Given the description of an element on the screen output the (x, y) to click on. 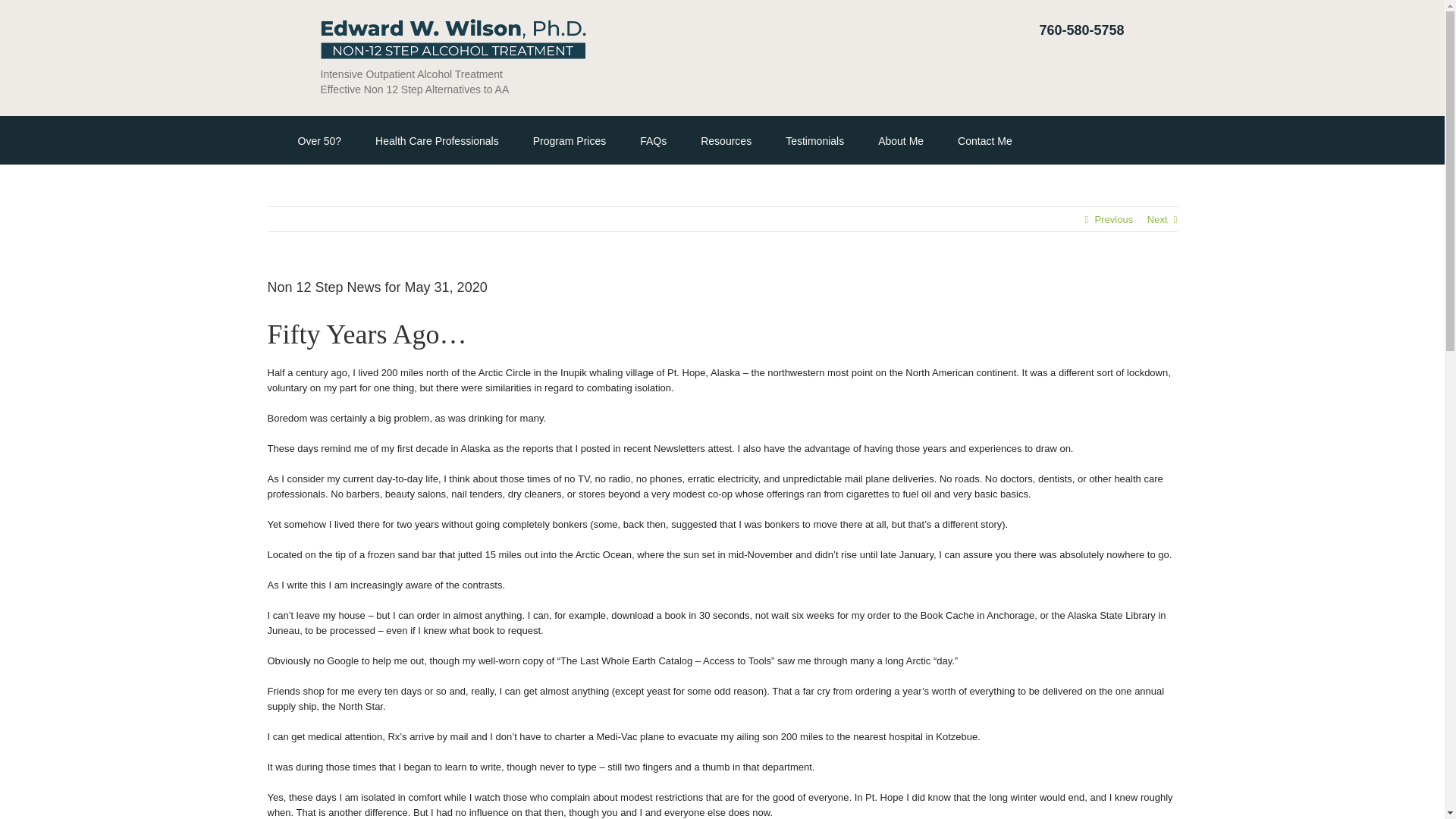
Testimonials (815, 139)
About Me (900, 139)
Over 50? (318, 139)
Program Prices (568, 139)
Health Care Professionals (437, 139)
Contact Me (984, 139)
760-580-5758 (1081, 29)
Resources (725, 139)
